Given the description of an element on the screen output the (x, y) to click on. 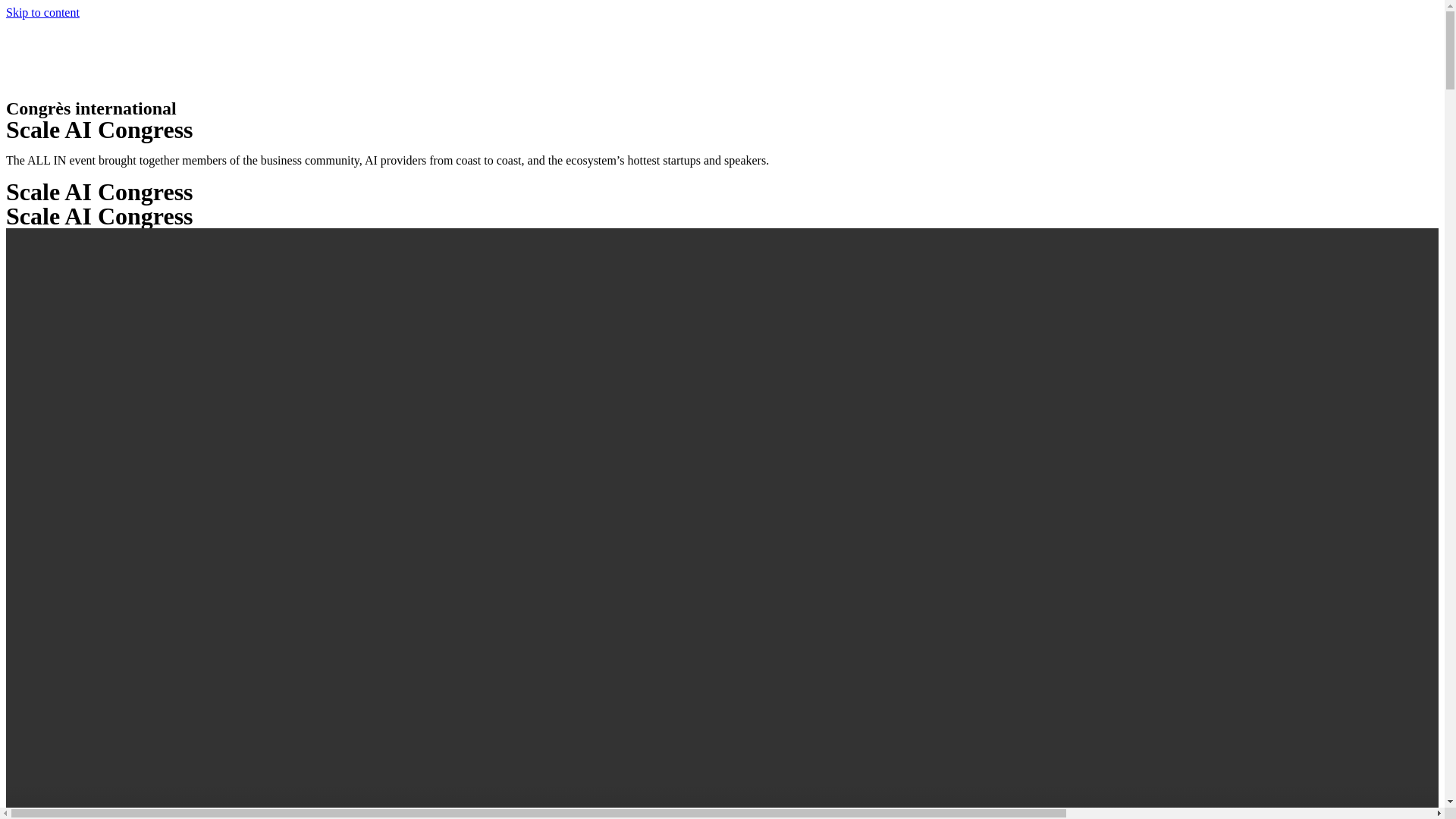
Skip to content (42, 11)
